Given the description of an element on the screen output the (x, y) to click on. 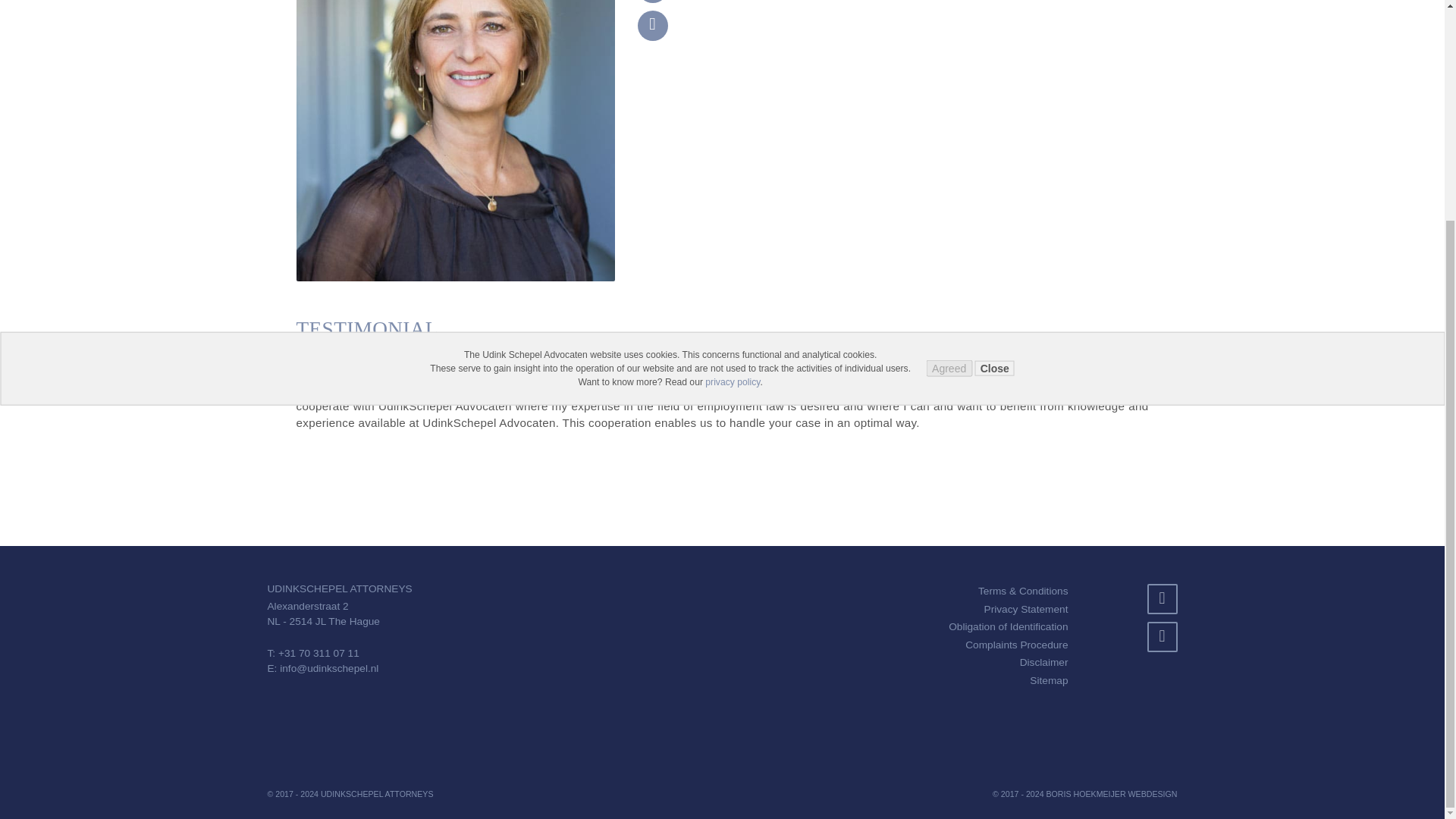
Close (994, 75)
privacy policy (732, 89)
Agreed (949, 75)
